Given the description of an element on the screen output the (x, y) to click on. 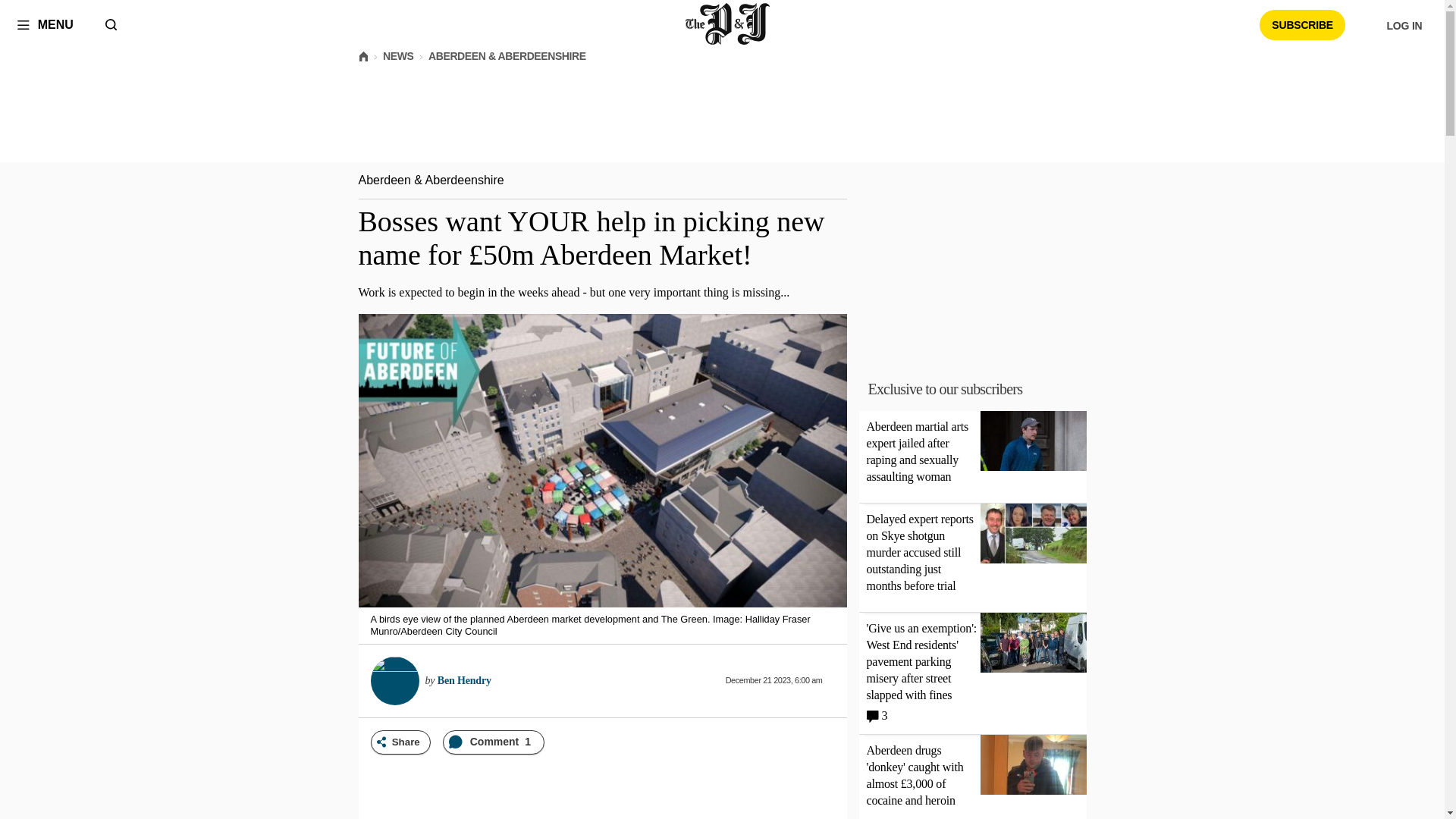
Exclusive to our subscribers (981, 388)
Press and Journal (727, 24)
Exclusive to our subscribers (944, 389)
